Given the description of an element on the screen output the (x, y) to click on. 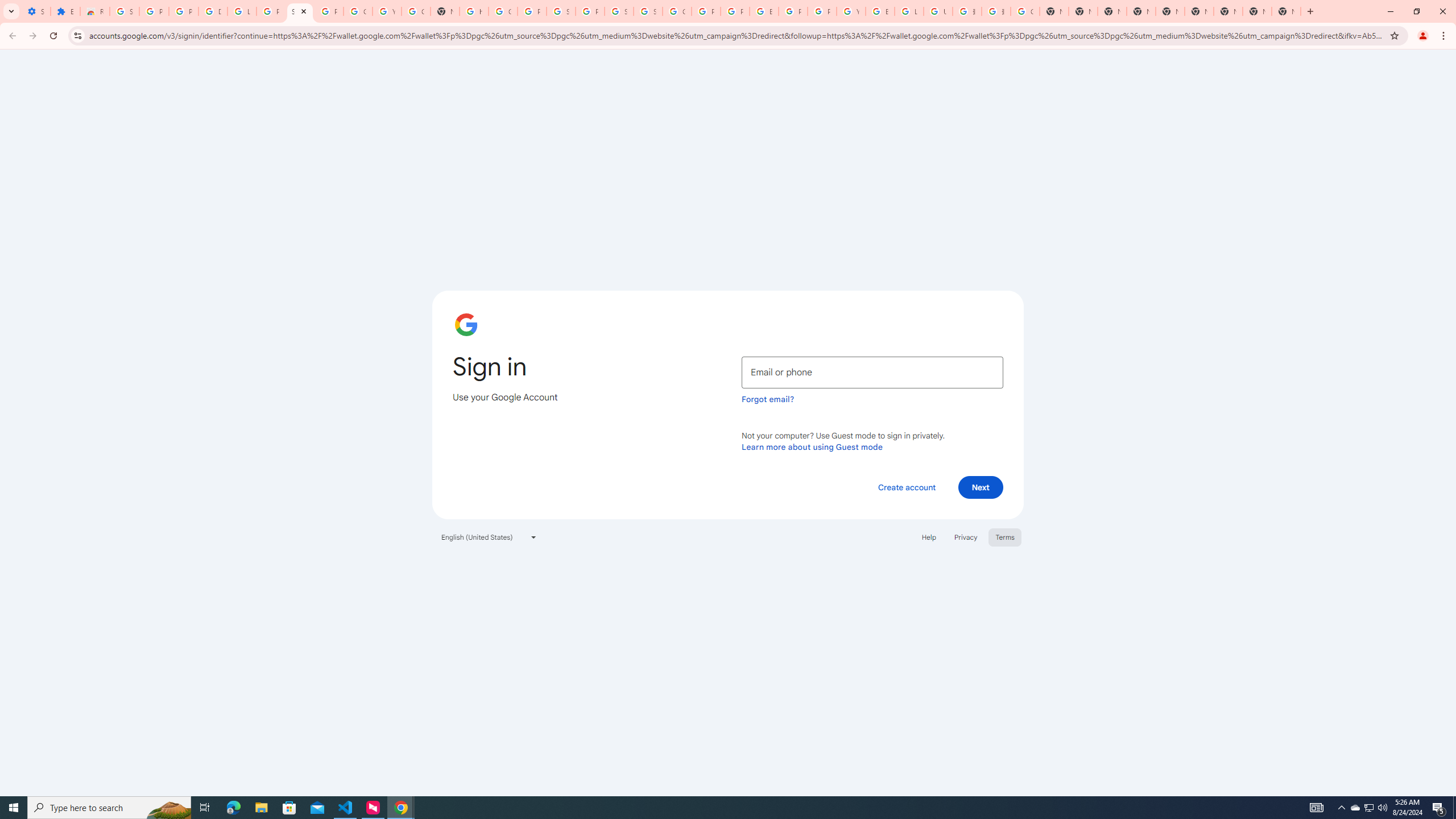
Google Images (1025, 11)
YouTube (850, 11)
Sign in - Google Accounts (300, 11)
YouTube (386, 11)
English (United States) (489, 536)
Sign in - Google Accounts (560, 11)
Privacy (965, 536)
Sign in - Google Accounts (619, 11)
